Given the description of an element on the screen output the (x, y) to click on. 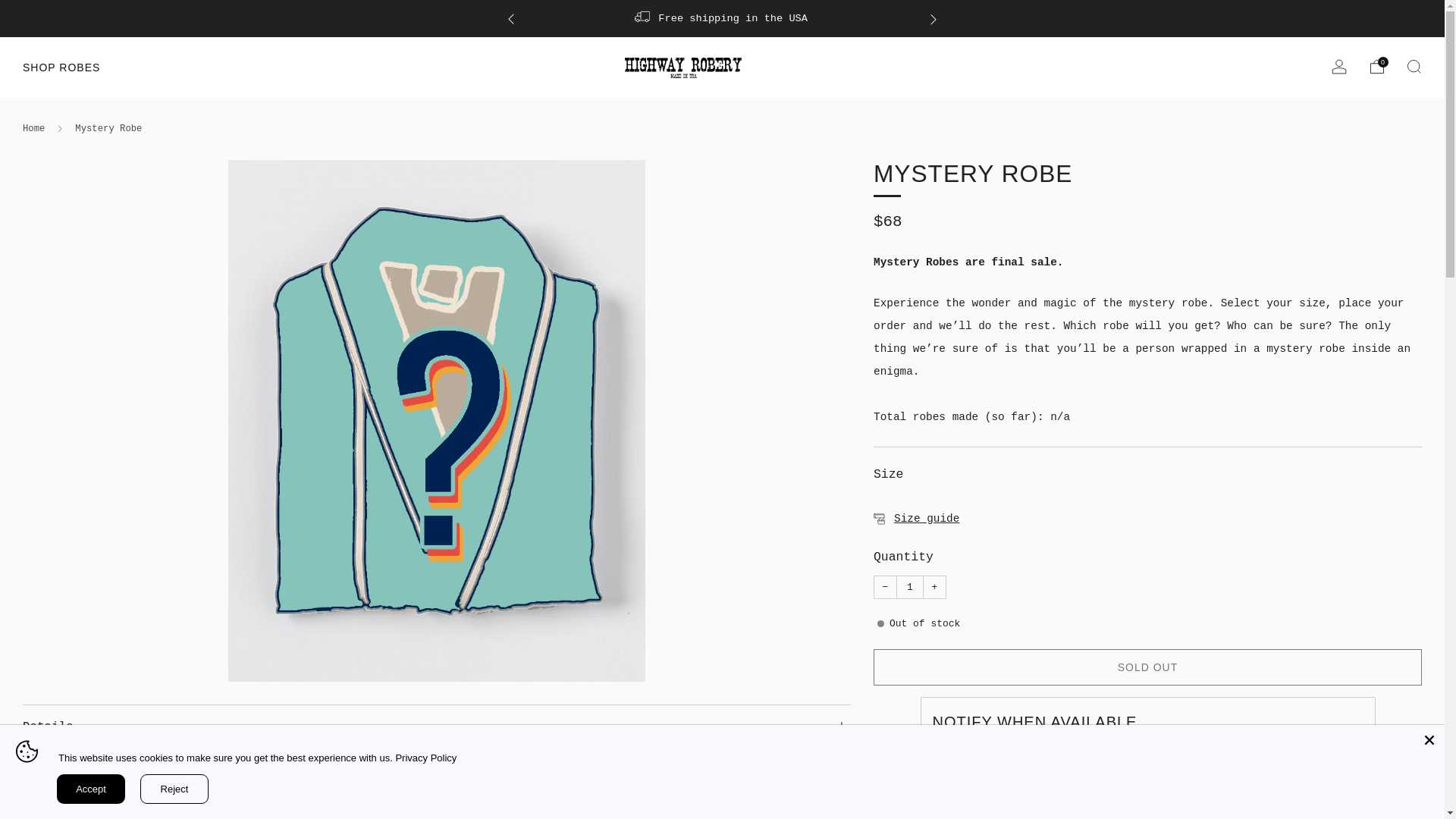
0 (1377, 66)
shop now (1256, 18)
SHOP ROBES (61, 66)
Privacy Policy (425, 757)
1 (909, 587)
Home (34, 128)
